Given the description of an element on the screen output the (x, y) to click on. 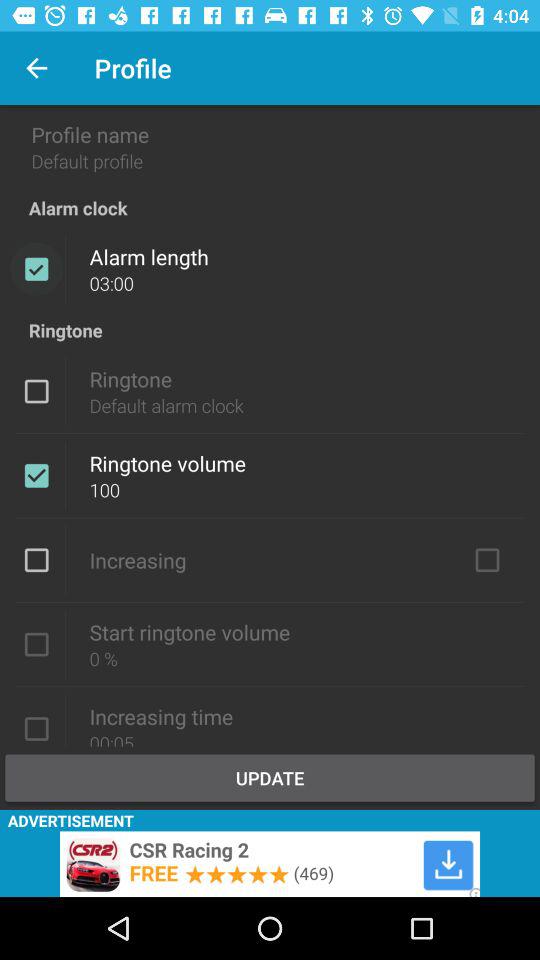
tick the increasing box (487, 560)
